Given the description of an element on the screen output the (x, y) to click on. 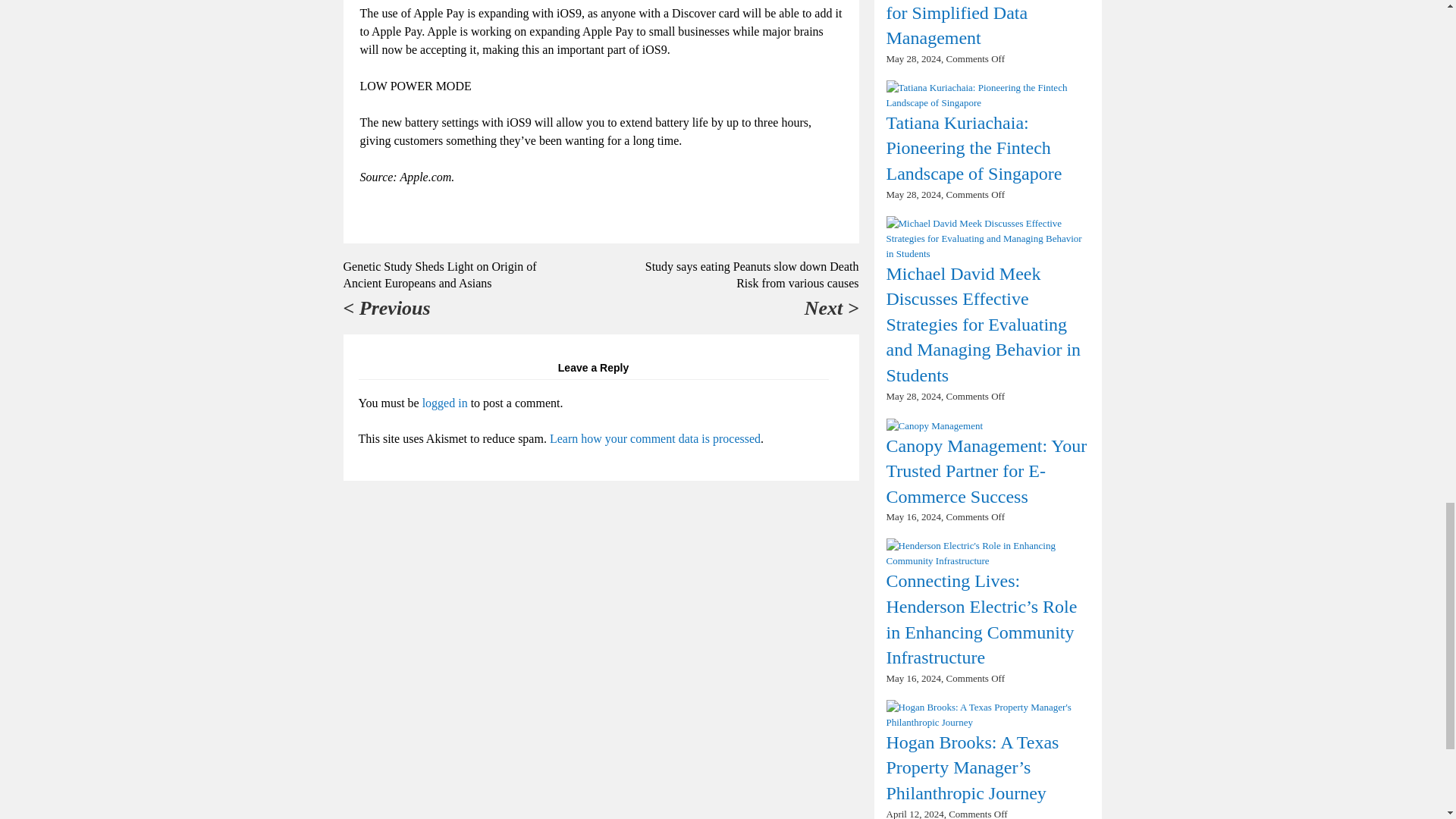
Learn how your comment data is processed (655, 438)
logged in (444, 402)
